Given the description of an element on the screen output the (x, y) to click on. 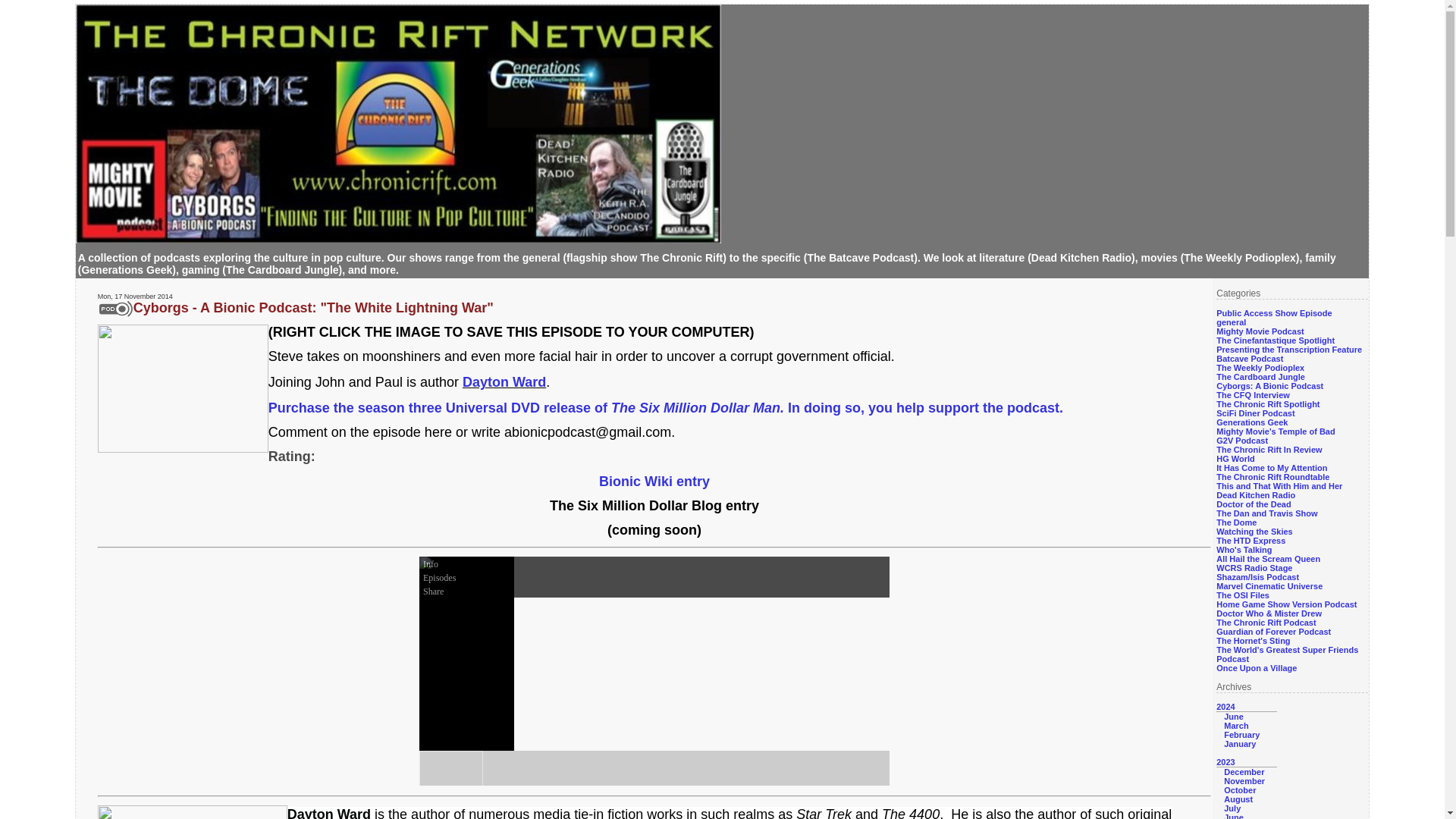
It Has Come to My Attention (1270, 467)
The OSI Files (1242, 594)
Batcave Podcast (1248, 358)
Home Game Show Version Podcast (1285, 604)
Presenting the Transcription Feature (1288, 348)
All Hail the Scream Queen (1267, 558)
Cyborgs: A Bionic Podcast (1269, 385)
The Weekly Podioplex (1259, 367)
The Dan and Travis Show (1266, 512)
SciFi Diner Podcast (1254, 412)
The Cardboard Jungle (1259, 376)
The Chronic Rift Podcast (1265, 622)
The Cinefantastique Spotlight (1275, 339)
The CFQ Interview (1252, 394)
HG World (1235, 458)
